Given the description of an element on the screen output the (x, y) to click on. 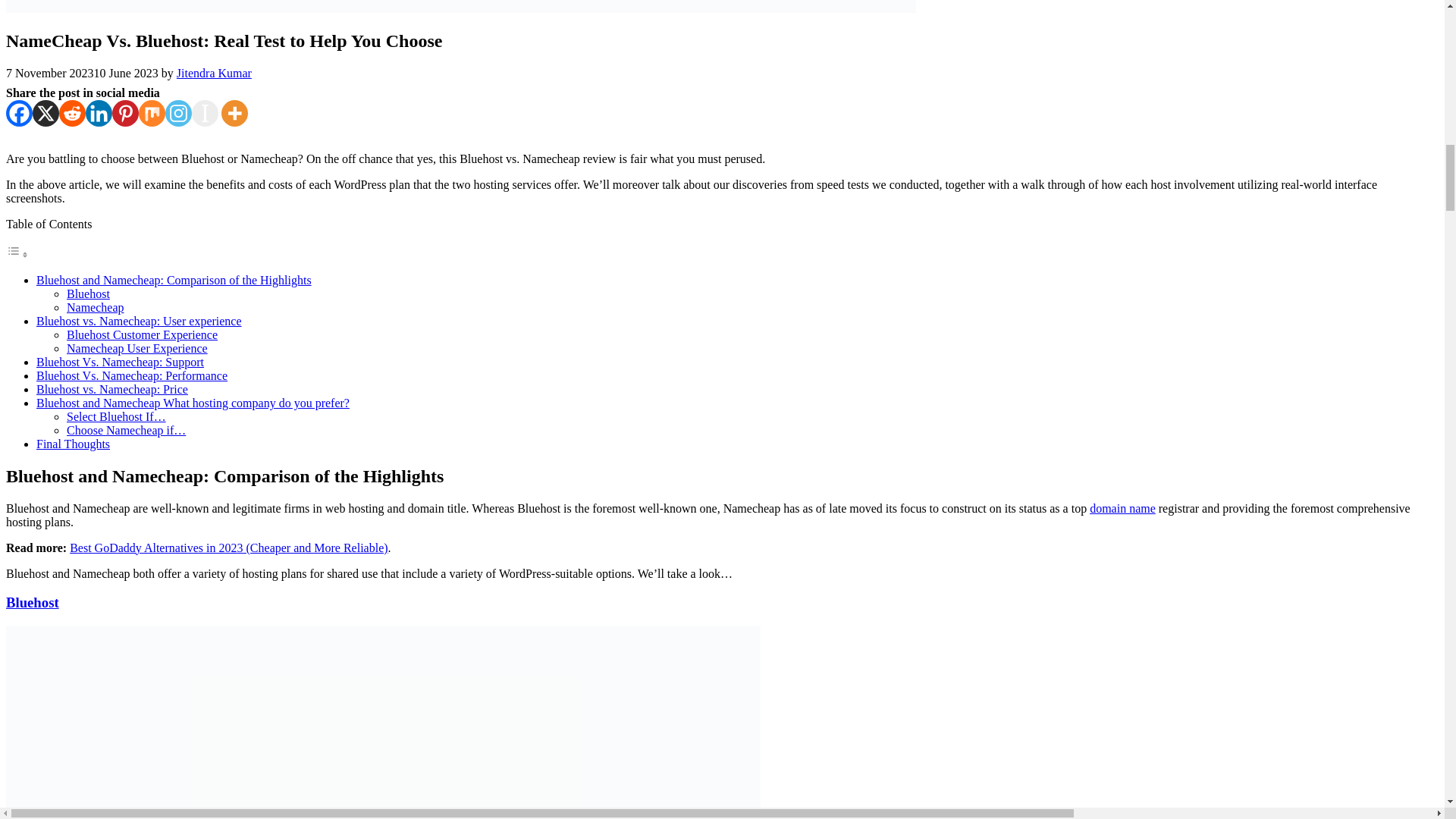
Pinterest (125, 112)
Linkedin (98, 112)
Namecheap User Experience (137, 348)
Bluehost and Namecheap: Comparison of the Highlights (173, 279)
Jitendra Kumar (213, 72)
Namecheap (94, 307)
X (45, 112)
Reddit (72, 112)
Bluehost vs. Namecheap: User experience (138, 320)
Mix (151, 112)
